Given the description of an element on the screen output the (x, y) to click on. 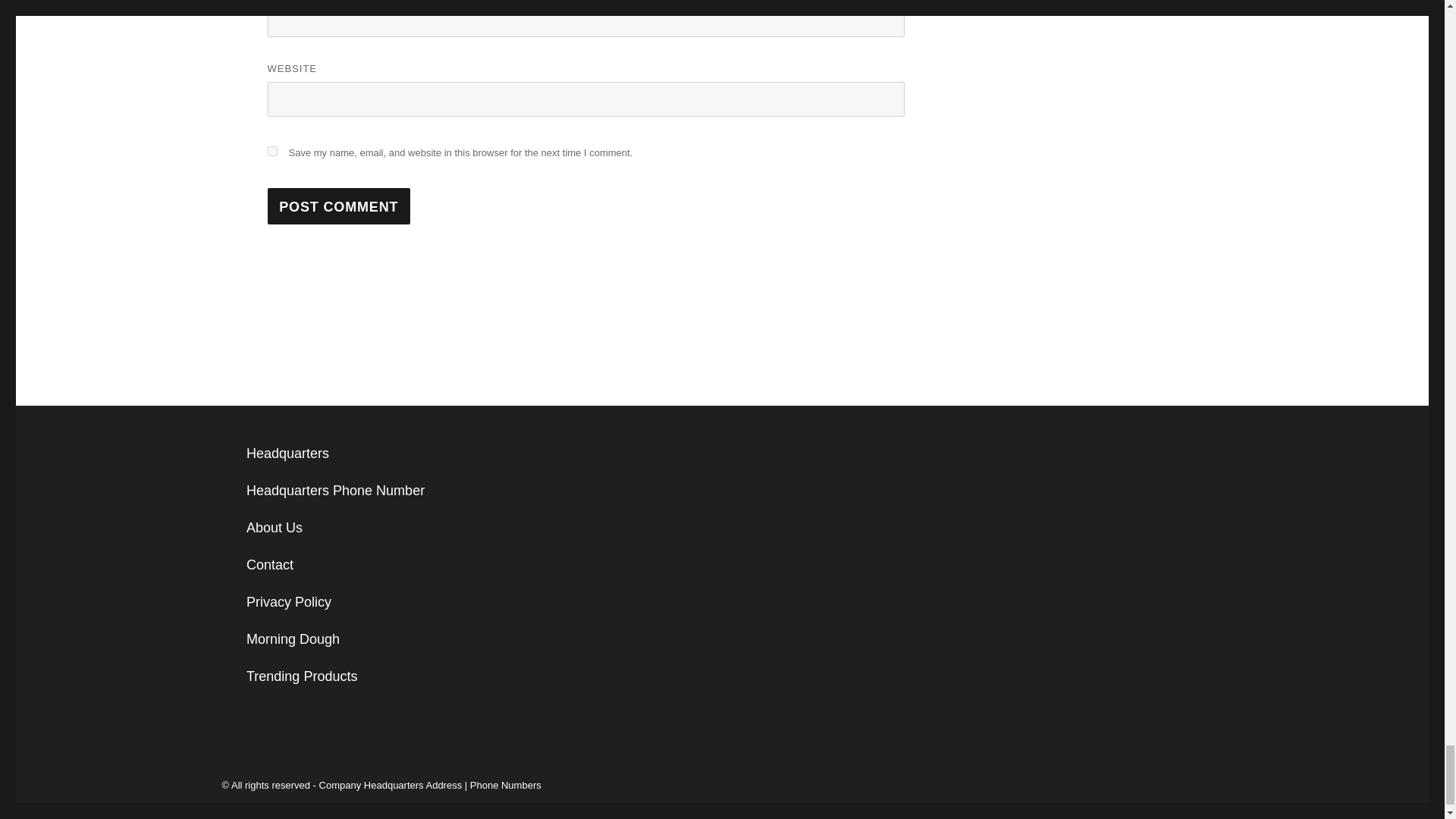
Post Comment (338, 205)
yes (271, 151)
Post Comment (338, 205)
